Given the description of an element on the screen output the (x, y) to click on. 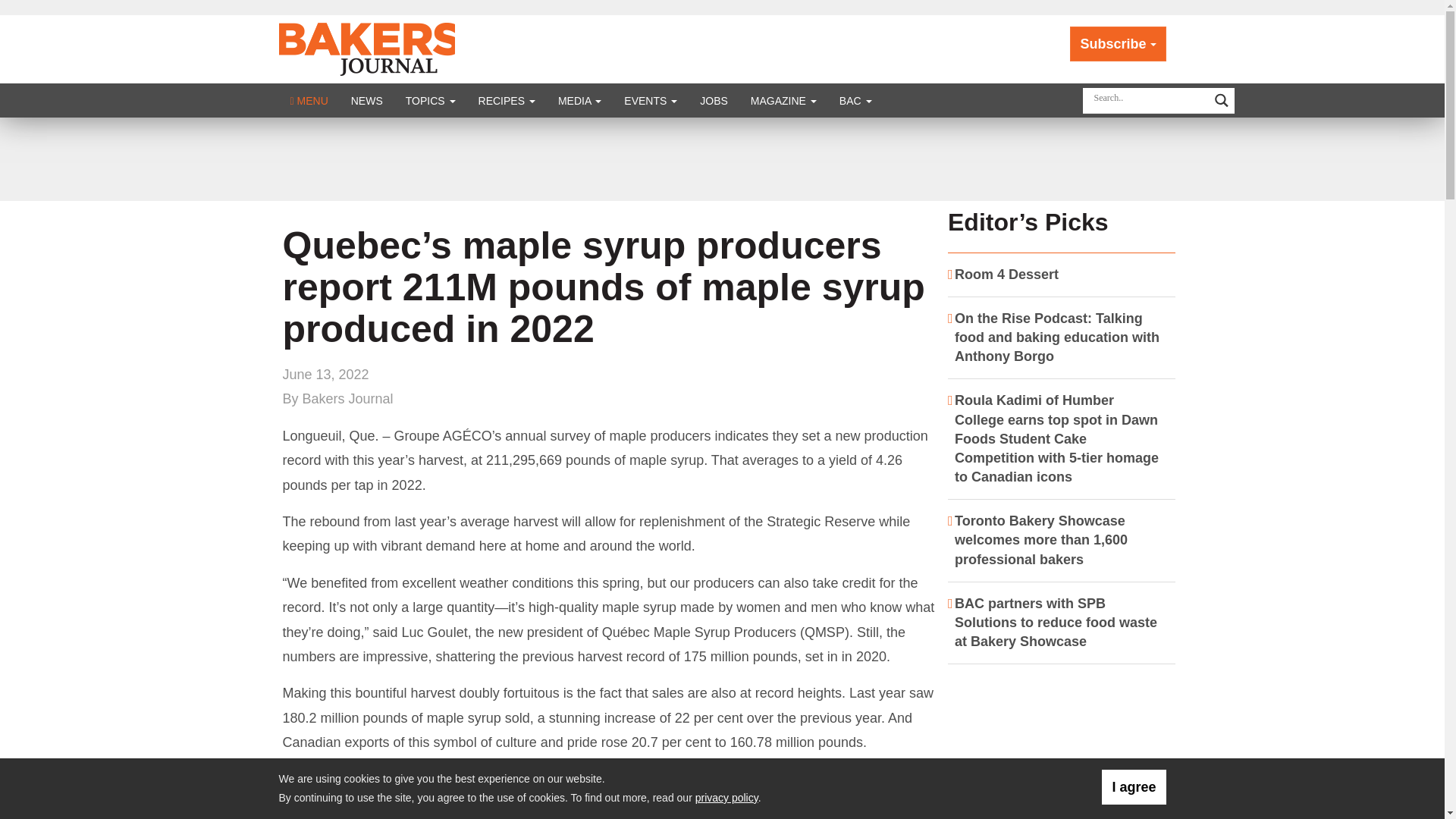
EVENTS (650, 100)
3rd party ad content (1055, 743)
3rd party ad content (609, 800)
TOPICS (430, 100)
NEWS (366, 100)
MENU (309, 100)
JOBS (713, 100)
RECIPES (507, 100)
Click to show site navigation (309, 100)
3rd party ad content (721, 159)
MEDIA (579, 100)
MAGAZINE (783, 100)
Subscribe (1118, 43)
Bakers Journal (368, 48)
